Given the description of an element on the screen output the (x, y) to click on. 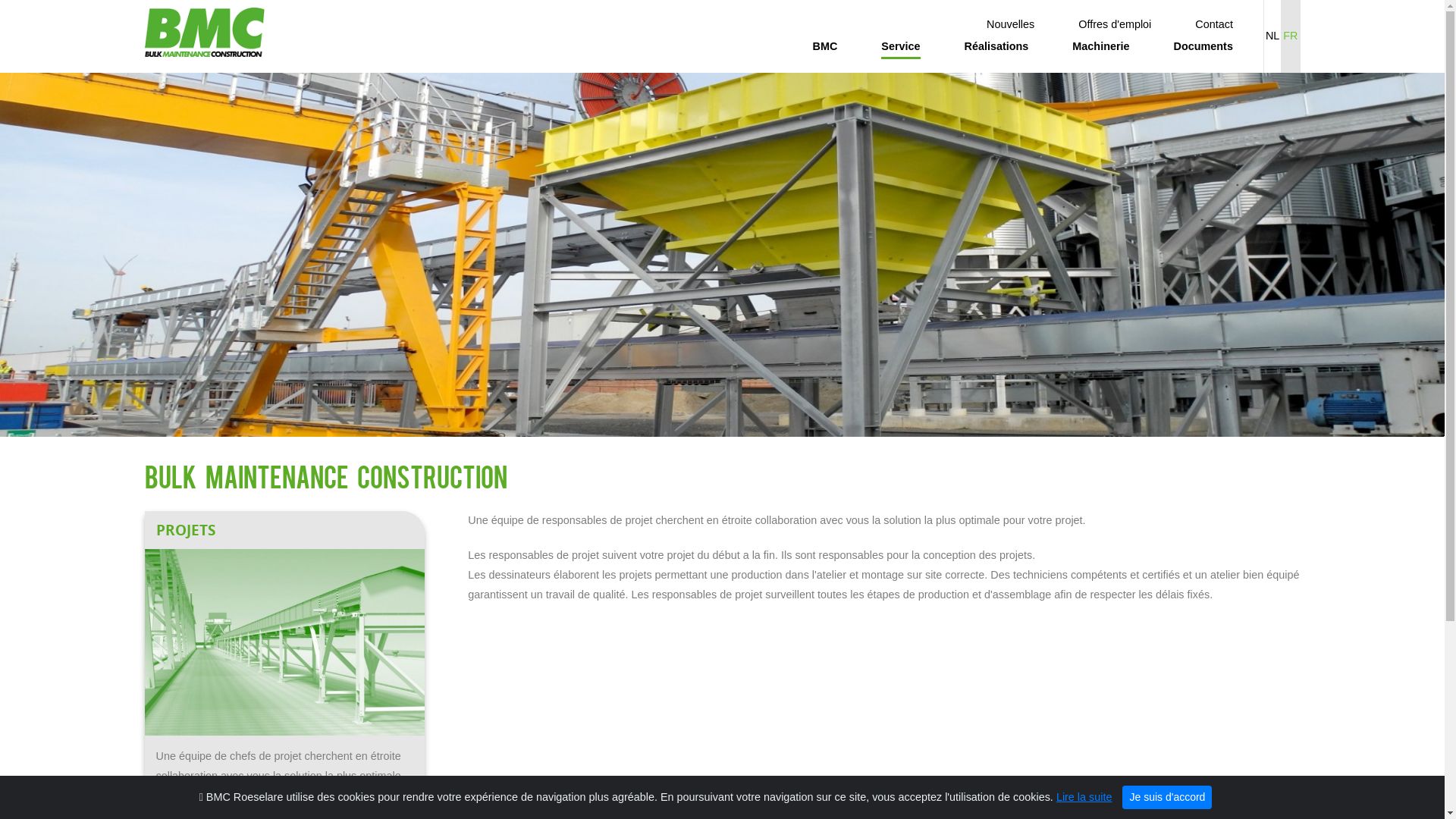
Contact Element type: text (1214, 24)
Lire la suite Element type: text (1084, 796)
Nouvelles Element type: text (1010, 24)
FR Element type: text (1289, 36)
Documents Element type: text (1203, 46)
Machinerie Element type: text (1100, 46)
NL Element type: text (1271, 36)
Je suis d'accord Element type: text (1166, 797)
BMC Element type: text (824, 46)
Service Element type: text (900, 48)
Offres d'emploi Element type: text (1114, 24)
